Given the description of an element on the screen output the (x, y) to click on. 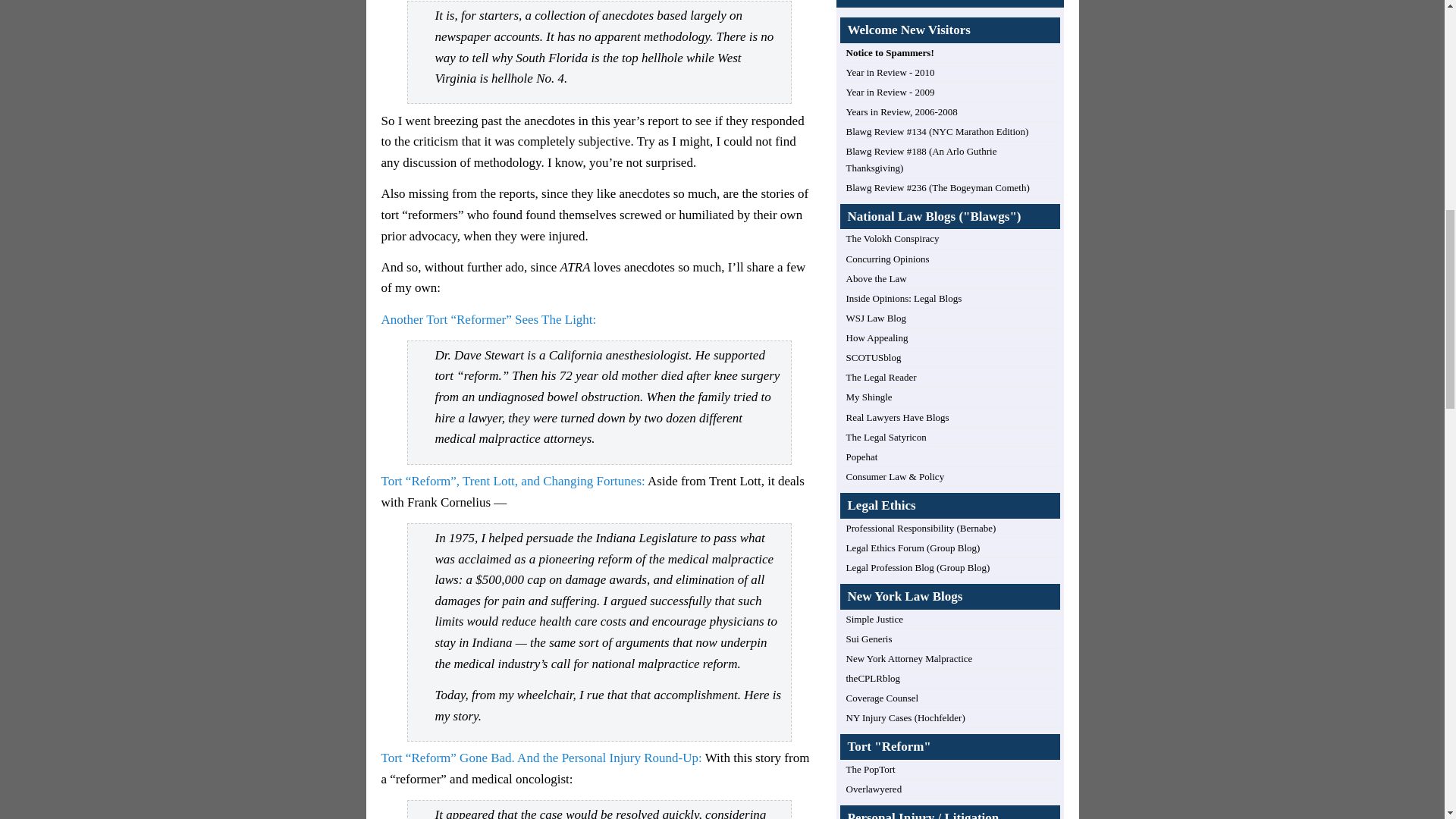
And the Personal Injury Round-Up: (608, 757)
